Given the description of an element on the screen output the (x, y) to click on. 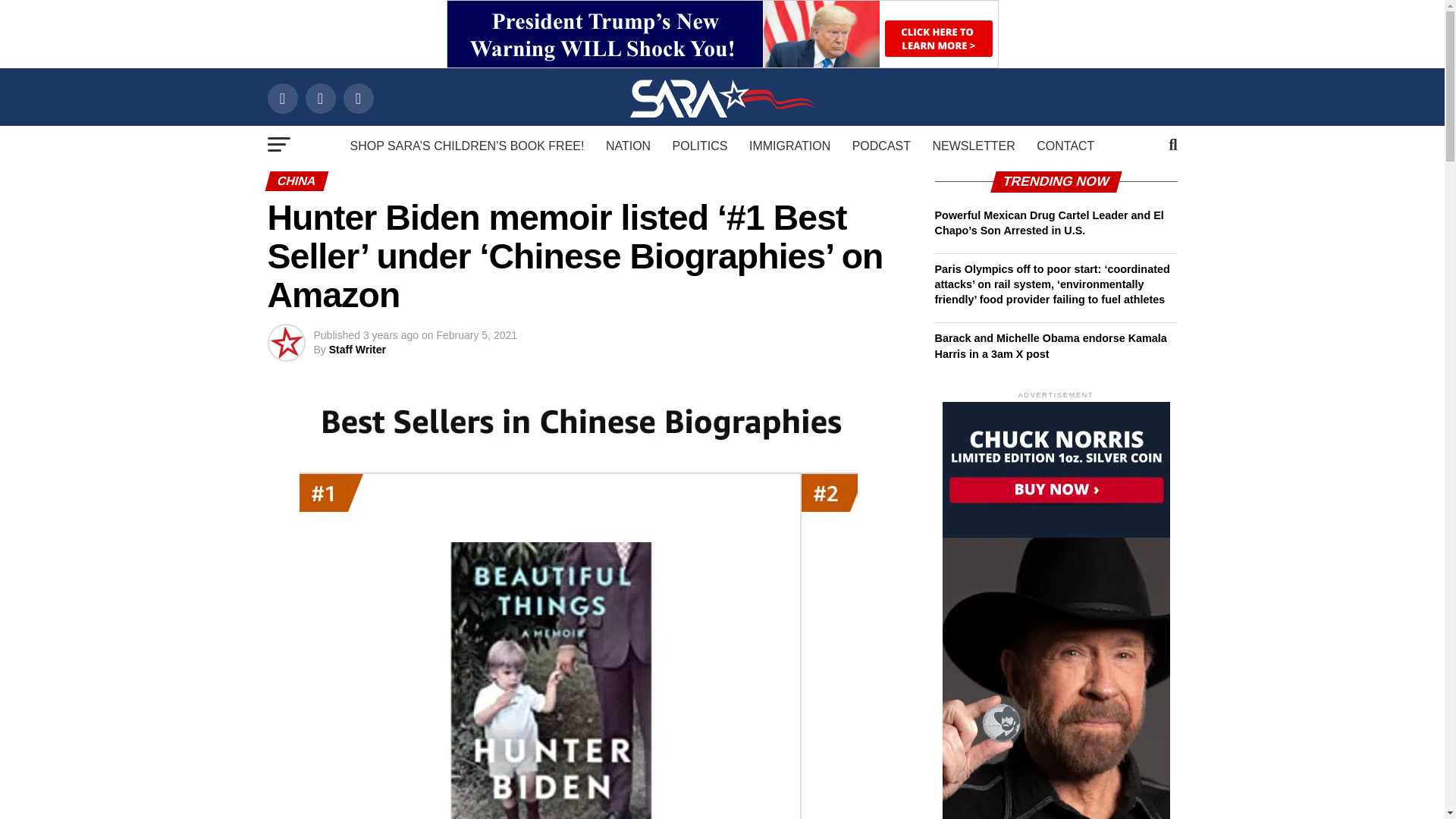
CONTACT (1065, 146)
PODCAST (881, 146)
Posts by Staff Writer (357, 349)
IMMIGRATION (789, 146)
NATION (627, 146)
Staff Writer (357, 349)
POLITICS (699, 146)
NEWSLETTER (973, 146)
